Given the description of an element on the screen output the (x, y) to click on. 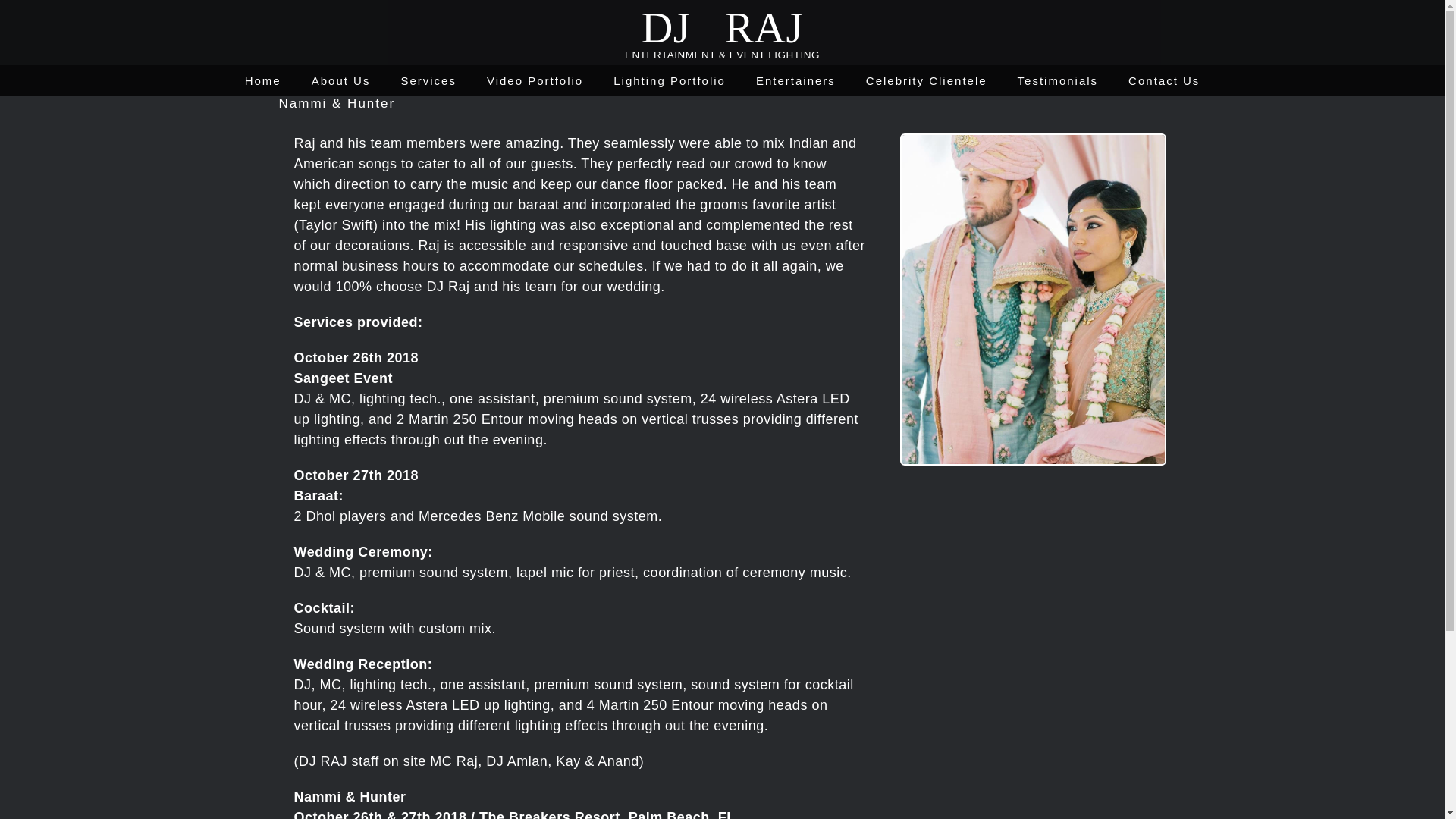
Contact Us (1163, 80)
Video Portfolio (534, 80)
About Us (341, 80)
Entertainers (795, 80)
Services (428, 80)
Home (262, 80)
Testimonials (1058, 80)
Celebrity Clientele (926, 80)
Lighting Portfolio (668, 80)
